Given the description of an element on the screen output the (x, y) to click on. 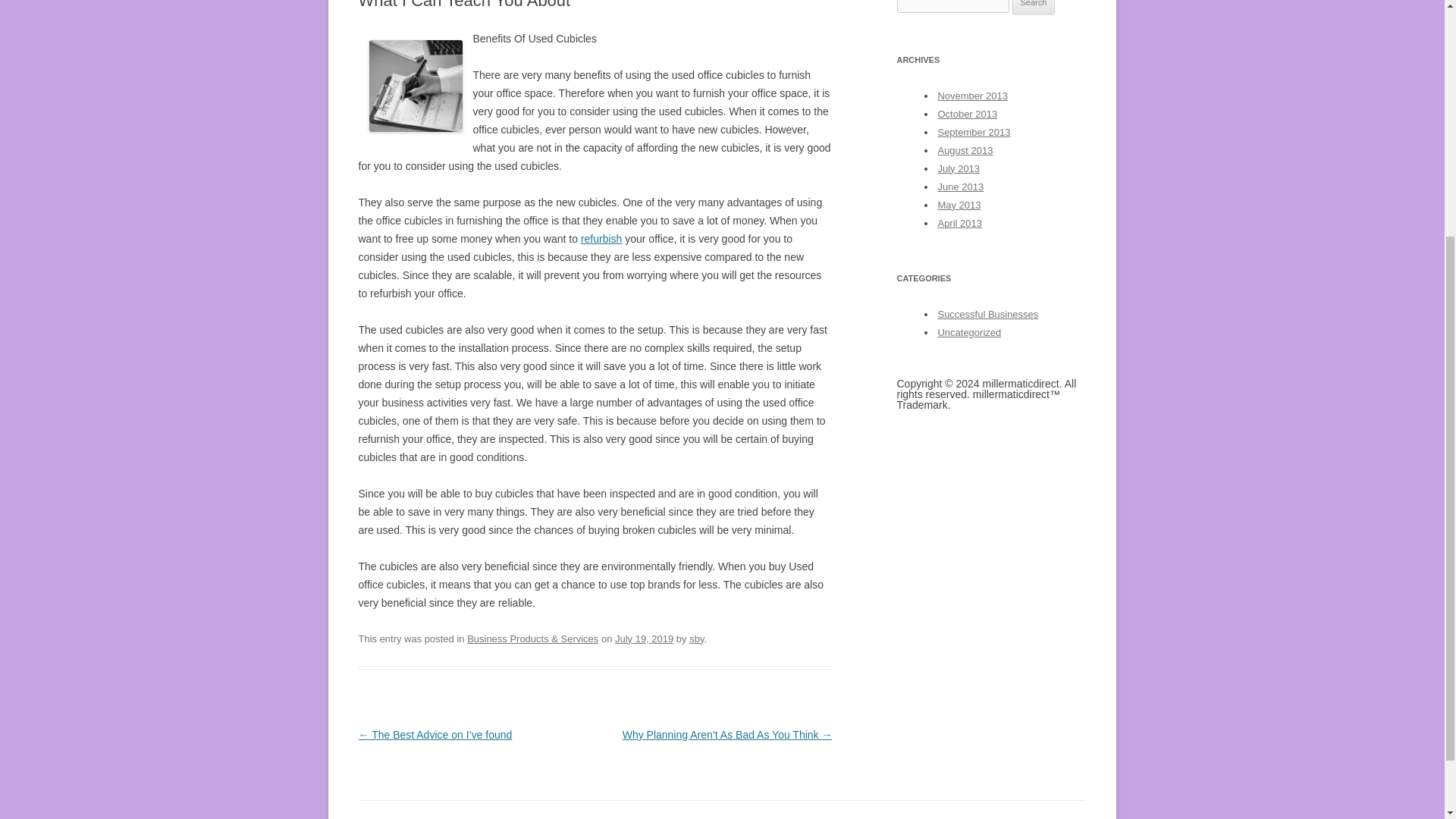
June 2013 (960, 186)
Successful Businesses (987, 314)
View all posts by sby (695, 638)
April 2013 (959, 223)
July 19, 2019 (643, 638)
October 2013 (967, 113)
July 2013 (958, 168)
September 2013 (973, 132)
April 2013 (959, 223)
June 2013 (960, 186)
Uncategorized (969, 332)
sby (695, 638)
View all posts filed under Successful Businesses (987, 314)
May 2013 (958, 204)
July 2013 (958, 168)
